Given the description of an element on the screen output the (x, y) to click on. 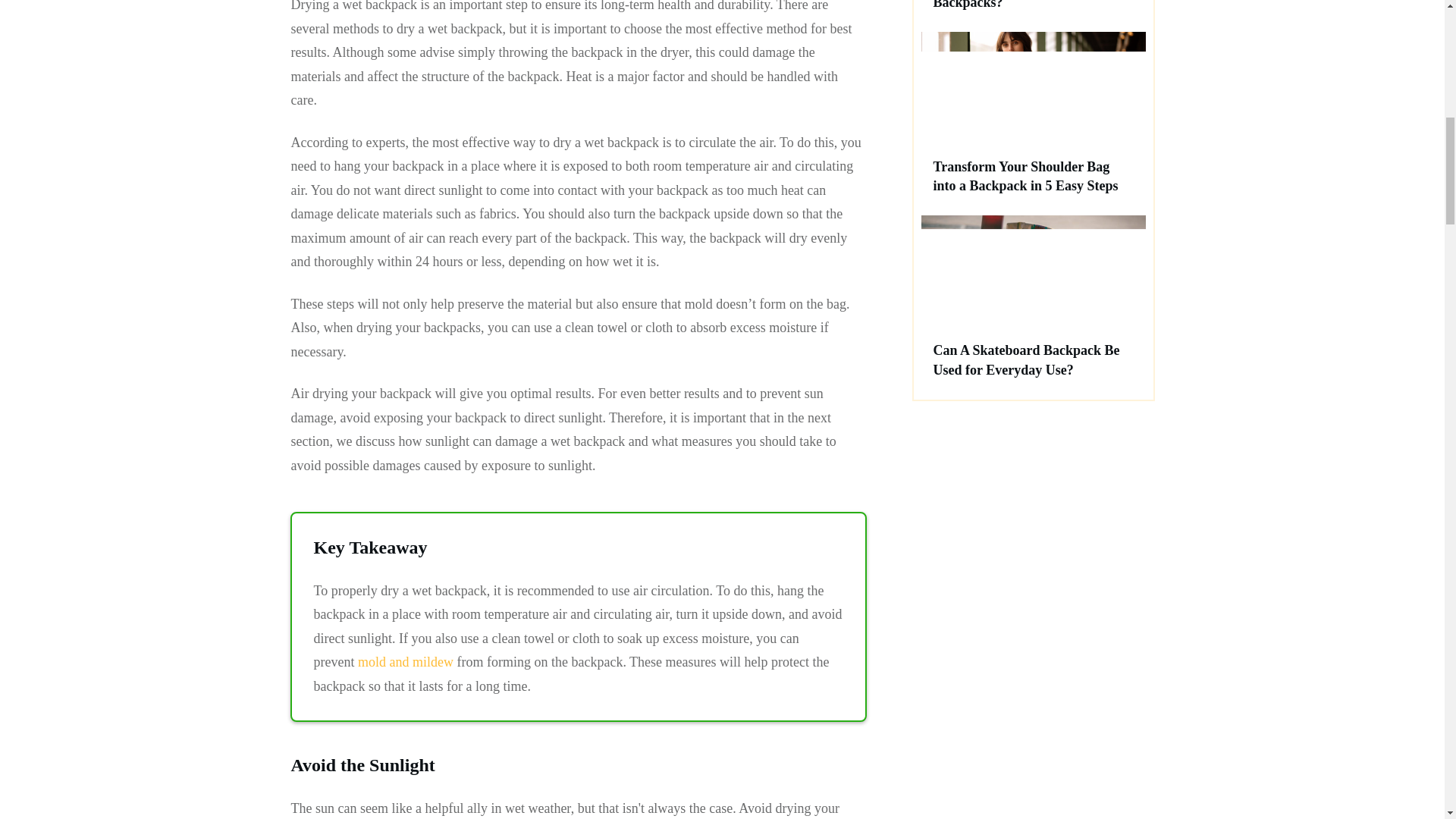
Can A Skateboard Backpack Be Used for Everyday Use? (1026, 359)
Transform Your Shoulder Bag into a Backpack in 5 Easy Steps (1025, 175)
What Are Concealed Carry Backpacks? (1013, 4)
